Given the description of an element on the screen output the (x, y) to click on. 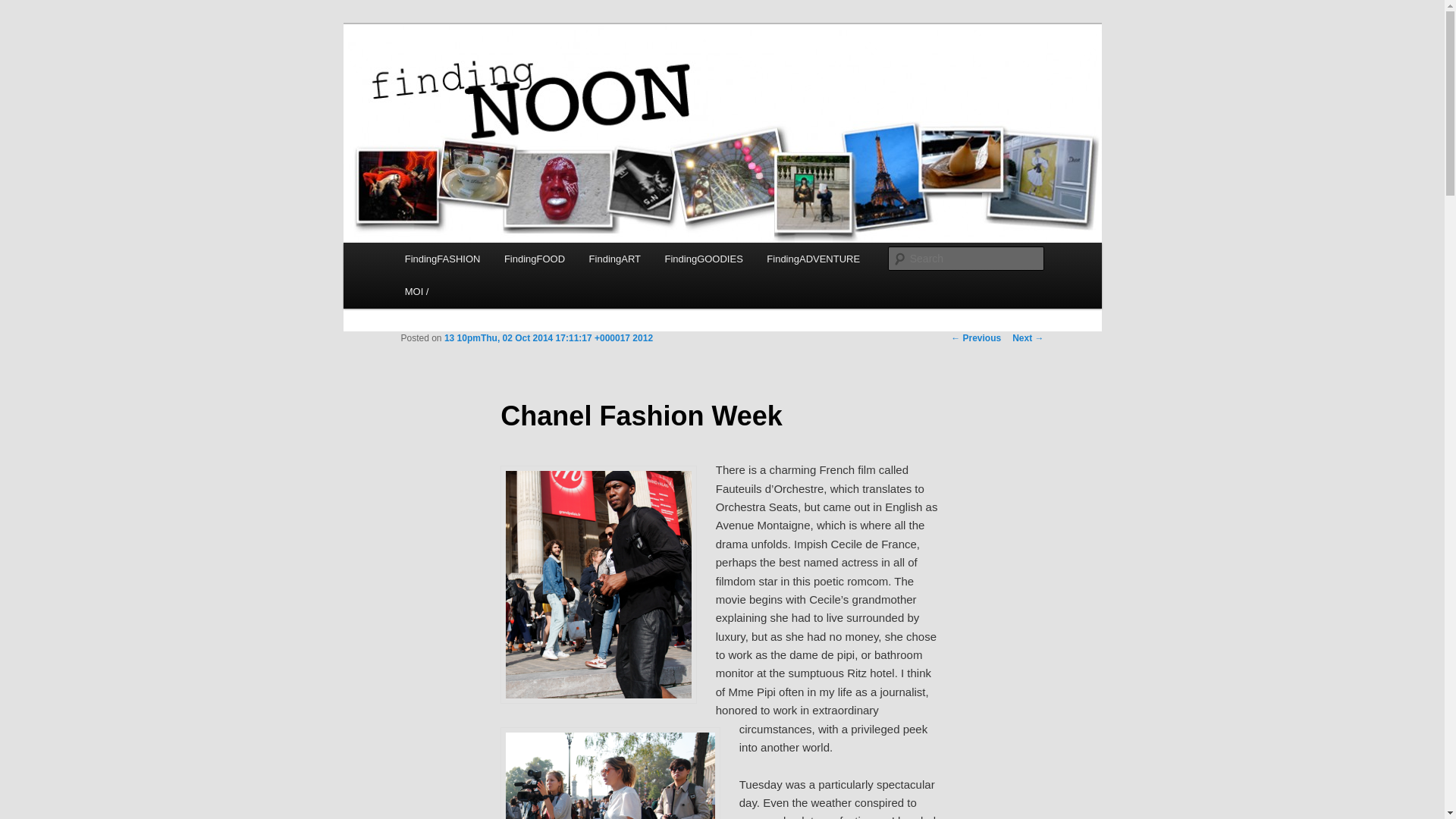
FindingFASHION (442, 258)
FindingGOODIES (703, 258)
FindingFOOD (534, 258)
Search (24, 8)
FindingART (614, 258)
Finding Noon (473, 78)
5:11 pm (548, 337)
FindingADVENTURE (813, 258)
